Given the description of an element on the screen output the (x, y) to click on. 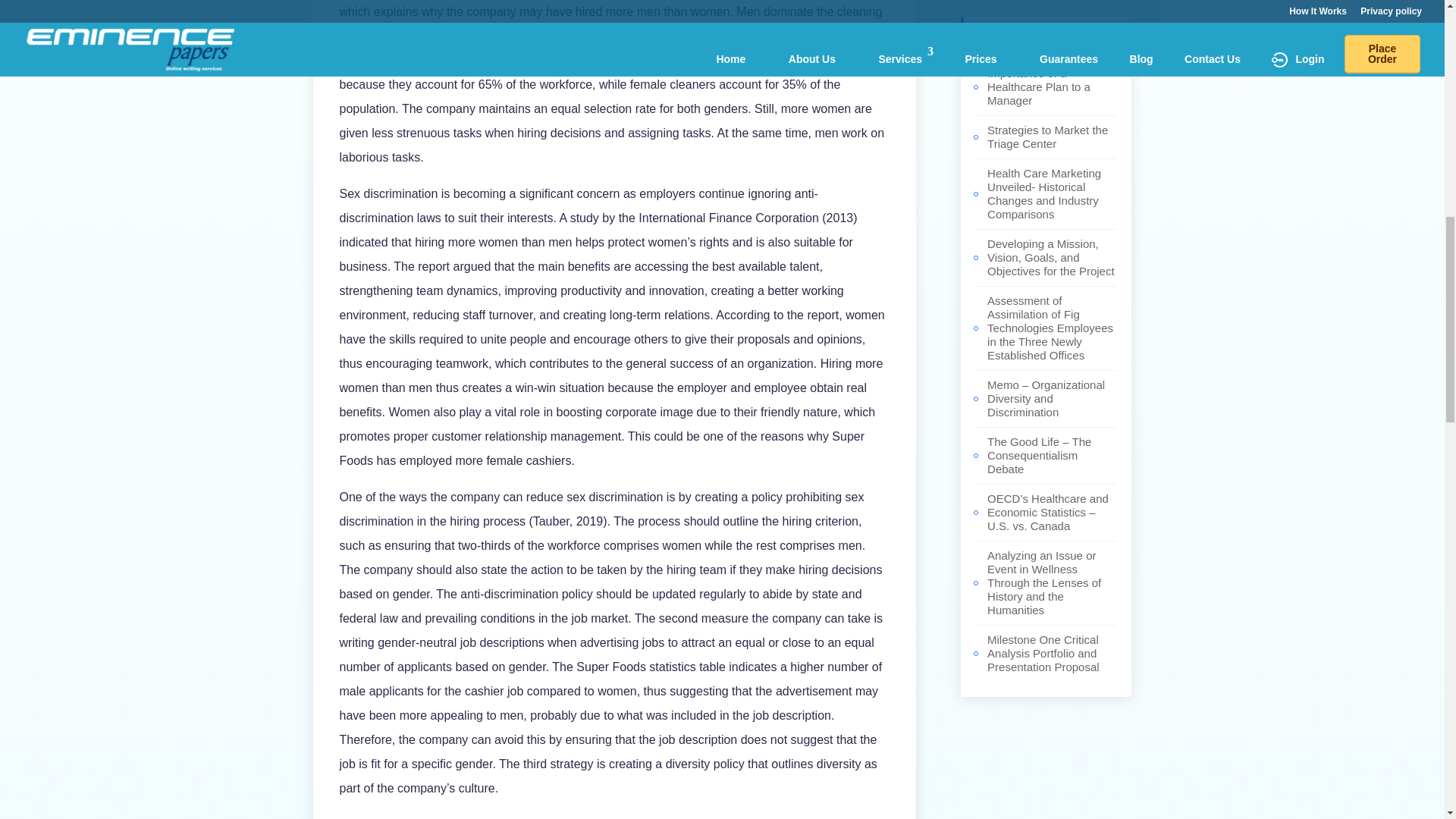
Strategies to Market the Triage Center (1047, 136)
Importance of a Healthcare Plan to a Manager (1038, 86)
